Given the description of an element on the screen output the (x, y) to click on. 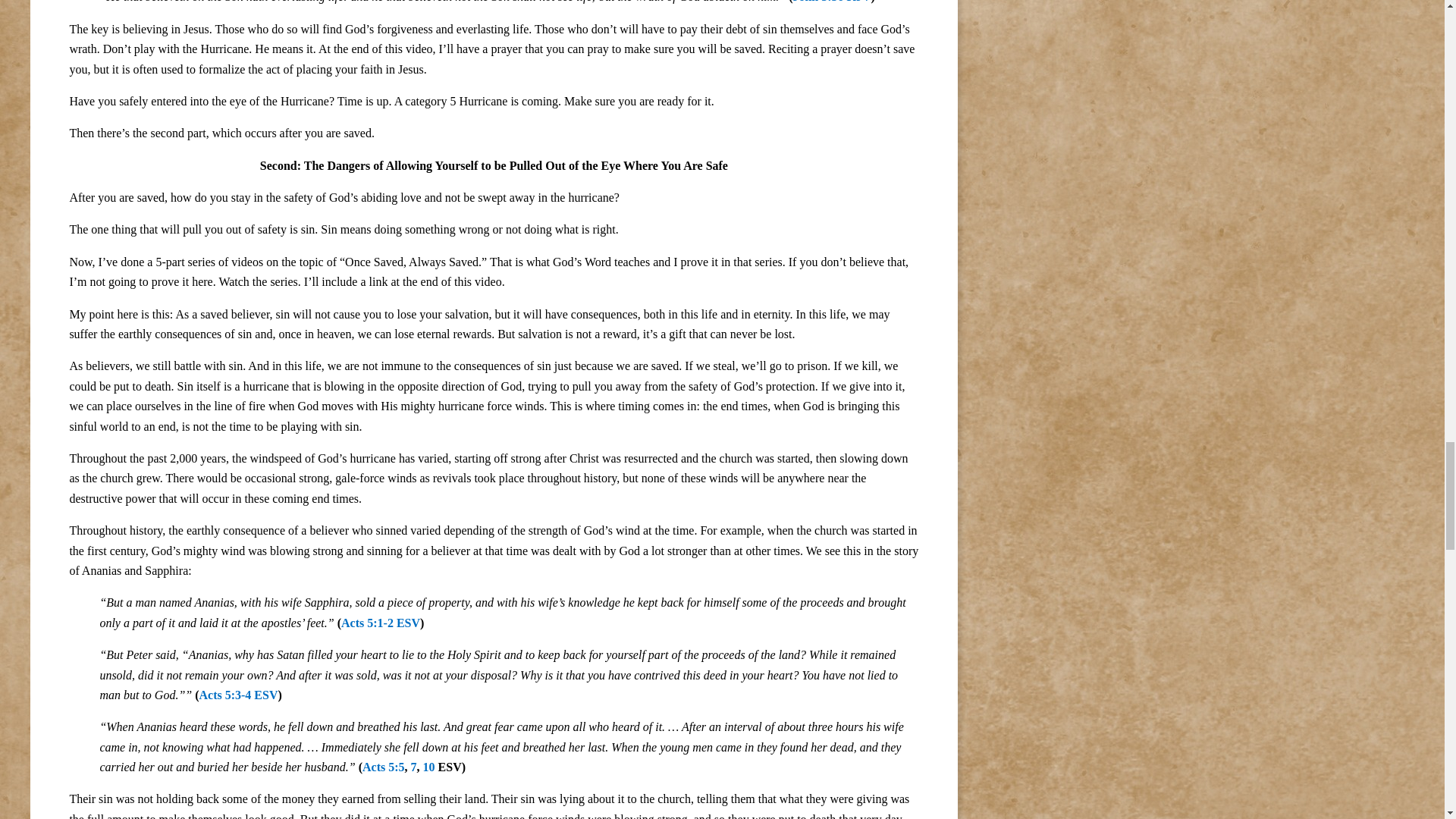
10 (429, 766)
Acts 5:5 (383, 766)
Acts 5:3-4 ESV (238, 694)
Acts 5:1-2 ESV (380, 622)
John 3:36 KJV (831, 1)
